Given the description of an element on the screen output the (x, y) to click on. 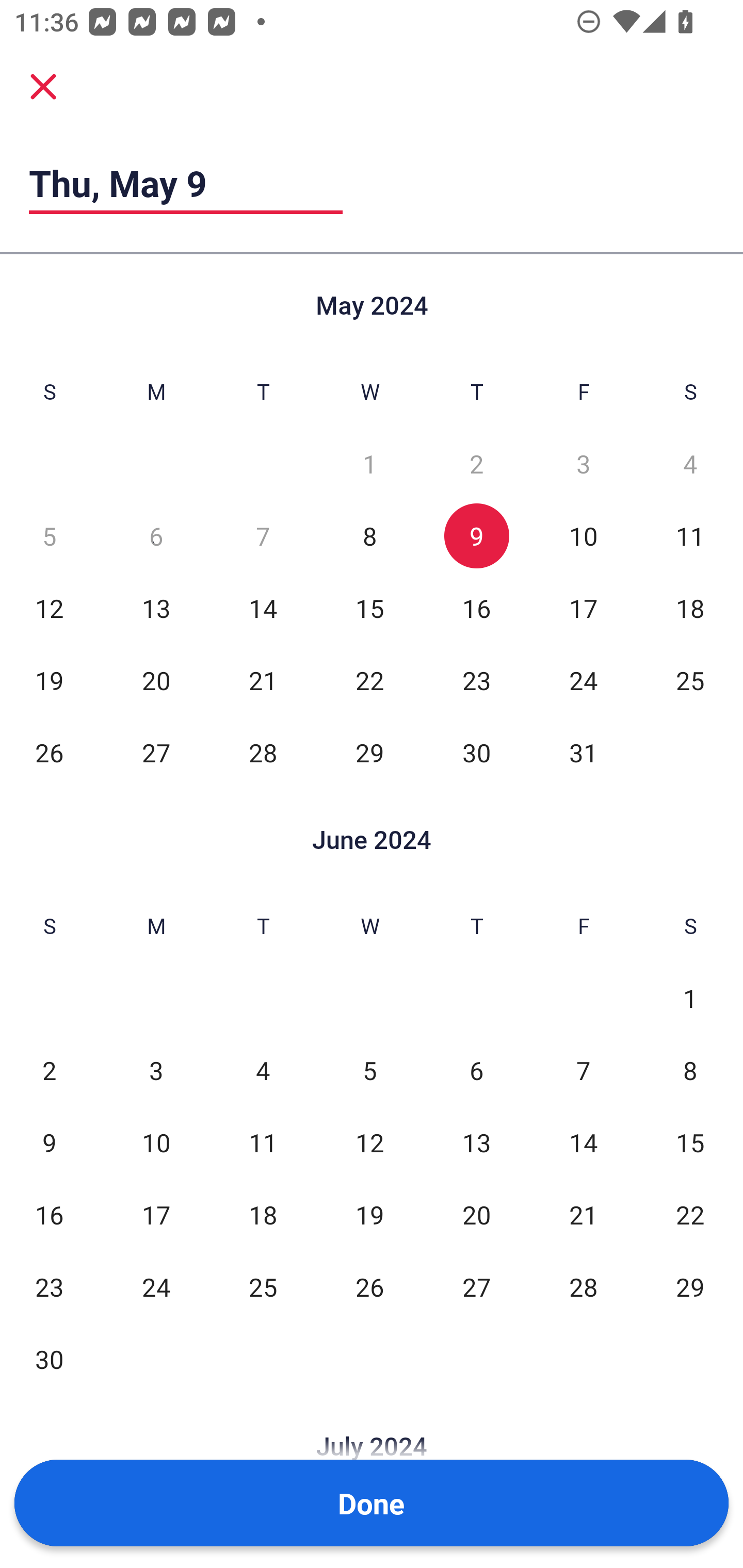
Cancel (43, 86)
Thu, May 9 (185, 182)
1 Wed, May 1, Not Selected (369, 464)
2 Thu, May 2, Not Selected (476, 464)
3 Fri, May 3, Not Selected (583, 464)
4 Sat, May 4, Not Selected (690, 464)
5 Sun, May 5, Not Selected (49, 536)
6 Mon, May 6, Not Selected (156, 536)
7 Tue, May 7, Not Selected (263, 536)
8 Wed, May 8, Not Selected (369, 536)
9 Thu, May 9, Selected (476, 536)
10 Fri, May 10, Not Selected (583, 536)
11 Sat, May 11, Not Selected (690, 536)
12 Sun, May 12, Not Selected (49, 608)
13 Mon, May 13, Not Selected (156, 608)
14 Tue, May 14, Not Selected (263, 608)
15 Wed, May 15, Not Selected (369, 608)
16 Thu, May 16, Not Selected (476, 608)
17 Fri, May 17, Not Selected (583, 608)
18 Sat, May 18, Not Selected (690, 608)
19 Sun, May 19, Not Selected (49, 680)
20 Mon, May 20, Not Selected (156, 680)
21 Tue, May 21, Not Selected (263, 680)
22 Wed, May 22, Not Selected (369, 680)
23 Thu, May 23, Not Selected (476, 680)
24 Fri, May 24, Not Selected (583, 680)
25 Sat, May 25, Not Selected (690, 680)
26 Sun, May 26, Not Selected (49, 752)
27 Mon, May 27, Not Selected (156, 752)
28 Tue, May 28, Not Selected (263, 752)
29 Wed, May 29, Not Selected (369, 752)
30 Thu, May 30, Not Selected (476, 752)
31 Fri, May 31, Not Selected (583, 752)
1 Sat, Jun 1, Not Selected (690, 997)
2 Sun, Jun 2, Not Selected (49, 1070)
3 Mon, Jun 3, Not Selected (156, 1070)
4 Tue, Jun 4, Not Selected (263, 1070)
5 Wed, Jun 5, Not Selected (369, 1070)
6 Thu, Jun 6, Not Selected (476, 1070)
7 Fri, Jun 7, Not Selected (583, 1070)
8 Sat, Jun 8, Not Selected (690, 1070)
9 Sun, Jun 9, Not Selected (49, 1143)
10 Mon, Jun 10, Not Selected (156, 1143)
11 Tue, Jun 11, Not Selected (263, 1143)
12 Wed, Jun 12, Not Selected (369, 1143)
13 Thu, Jun 13, Not Selected (476, 1143)
14 Fri, Jun 14, Not Selected (583, 1143)
15 Sat, Jun 15, Not Selected (690, 1143)
16 Sun, Jun 16, Not Selected (49, 1215)
17 Mon, Jun 17, Not Selected (156, 1215)
